Given the description of an element on the screen output the (x, y) to click on. 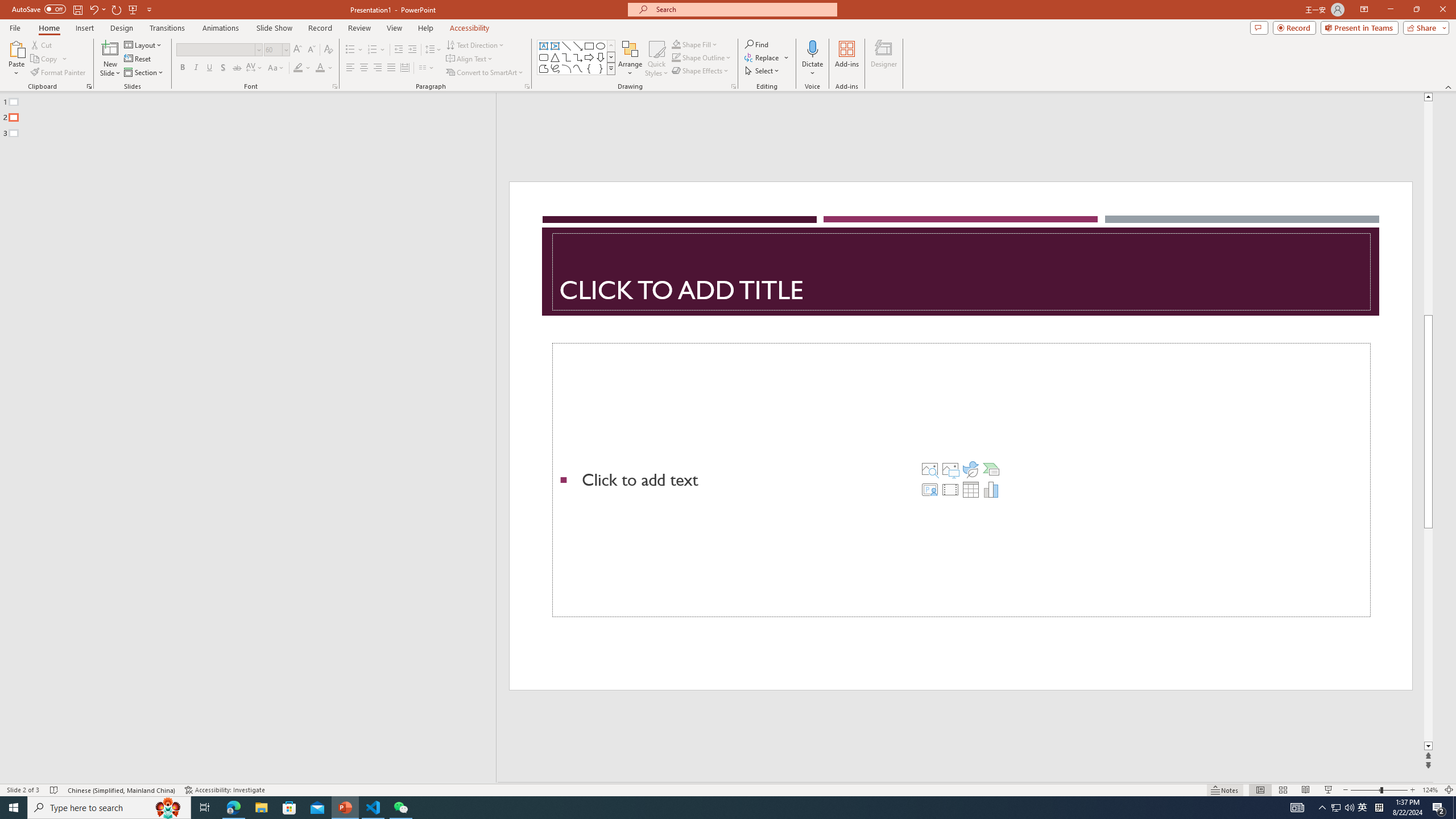
Shape Fill Orange, Accent 2 (675, 44)
